Given the description of an element on the screen output the (x, y) to click on. 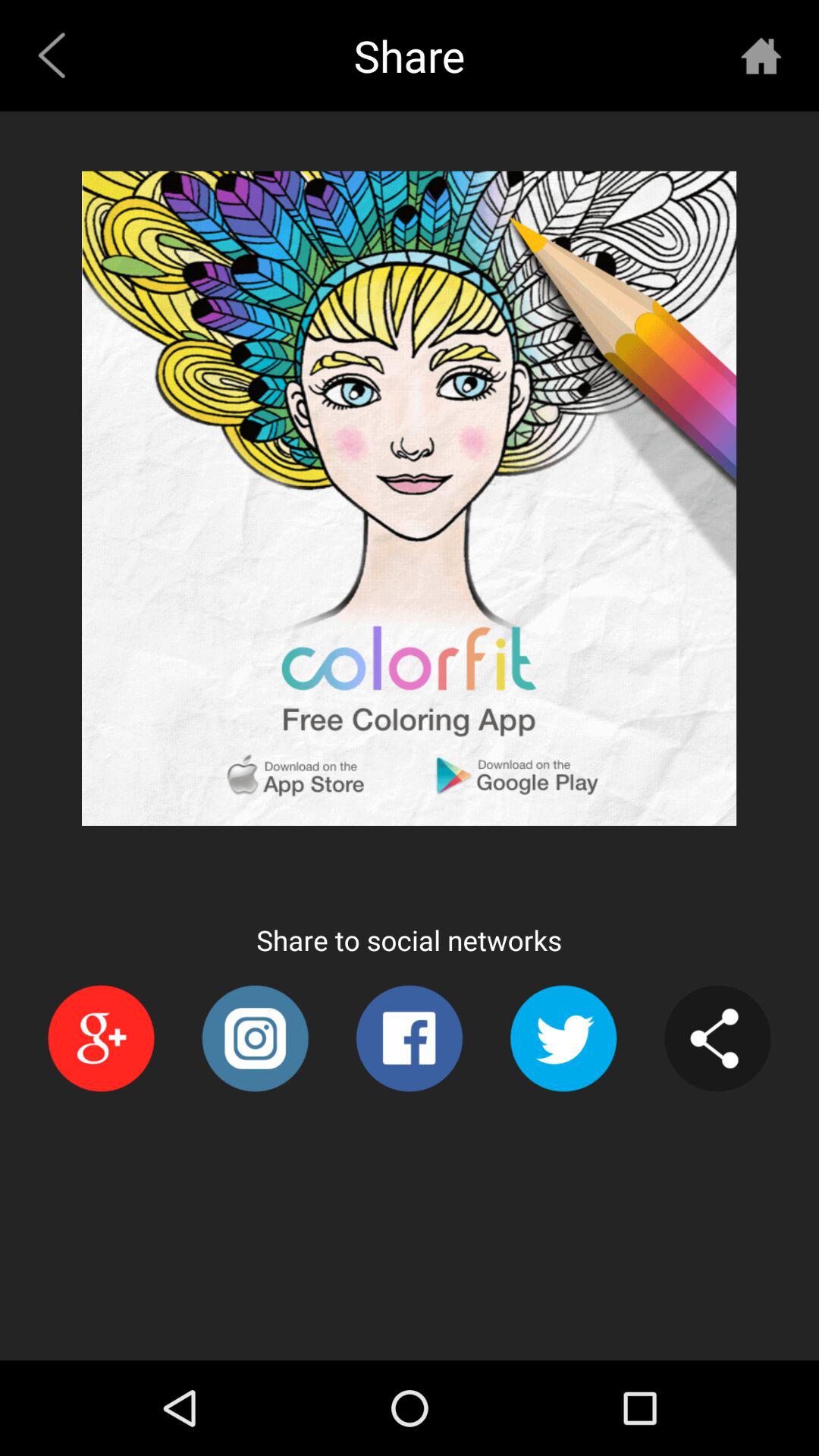
select the icon below share to social icon (563, 1038)
